Given the description of an element on the screen output the (x, y) to click on. 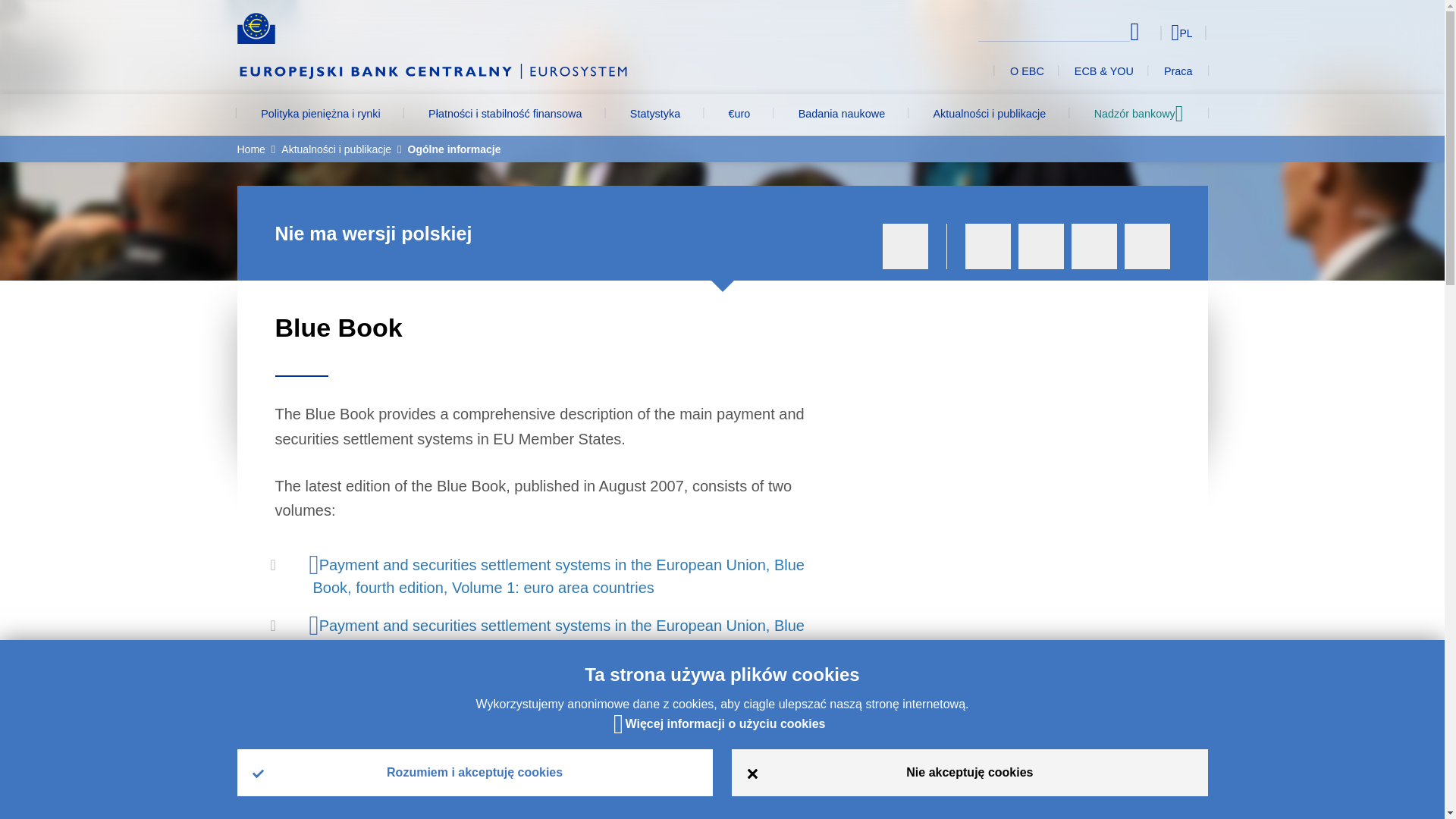
Select language (1153, 32)
